Given the description of an element on the screen output the (x, y) to click on. 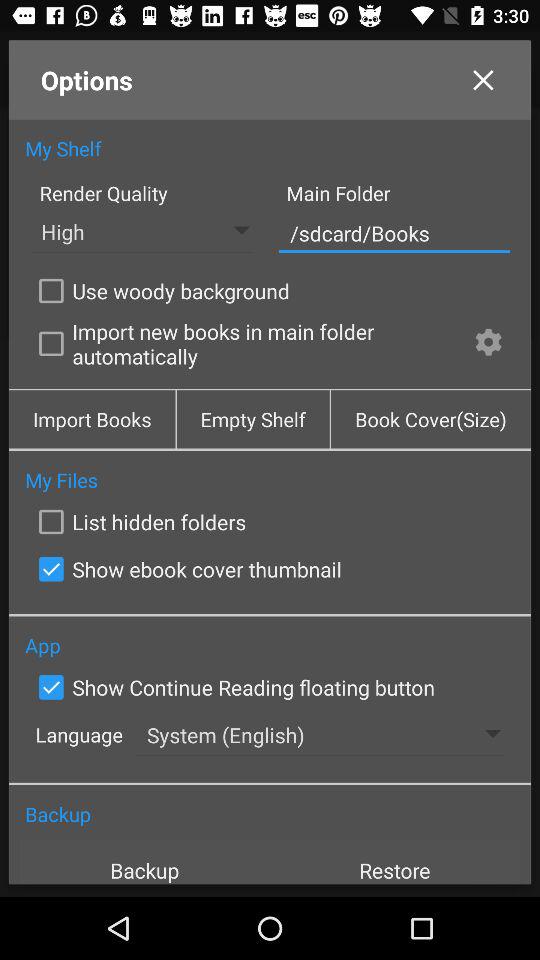
scroll until the show continue reading checkbox (232, 687)
